Given the description of an element on the screen output the (x, y) to click on. 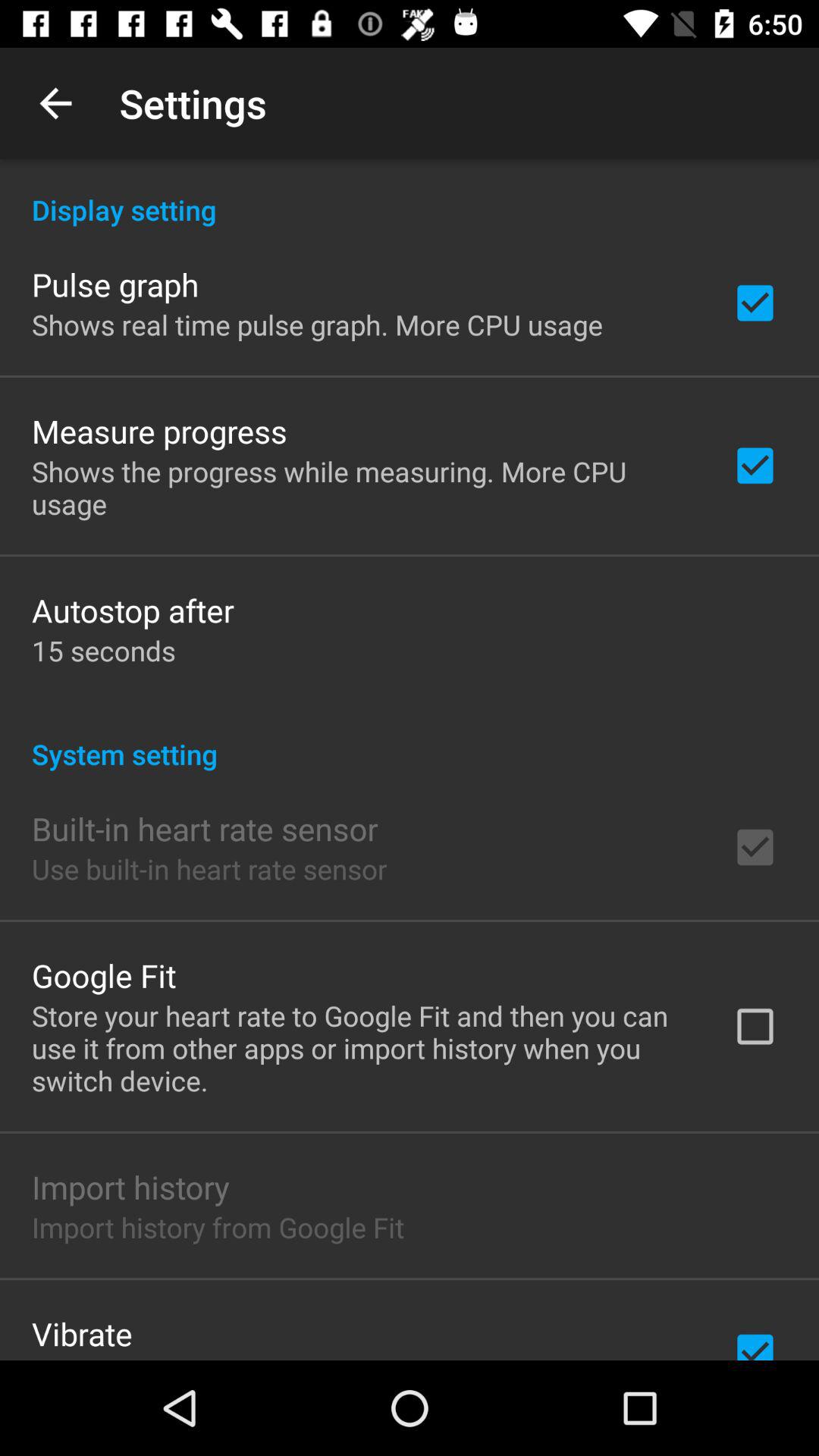
scroll until shows real time item (316, 324)
